Given the description of an element on the screen output the (x, y) to click on. 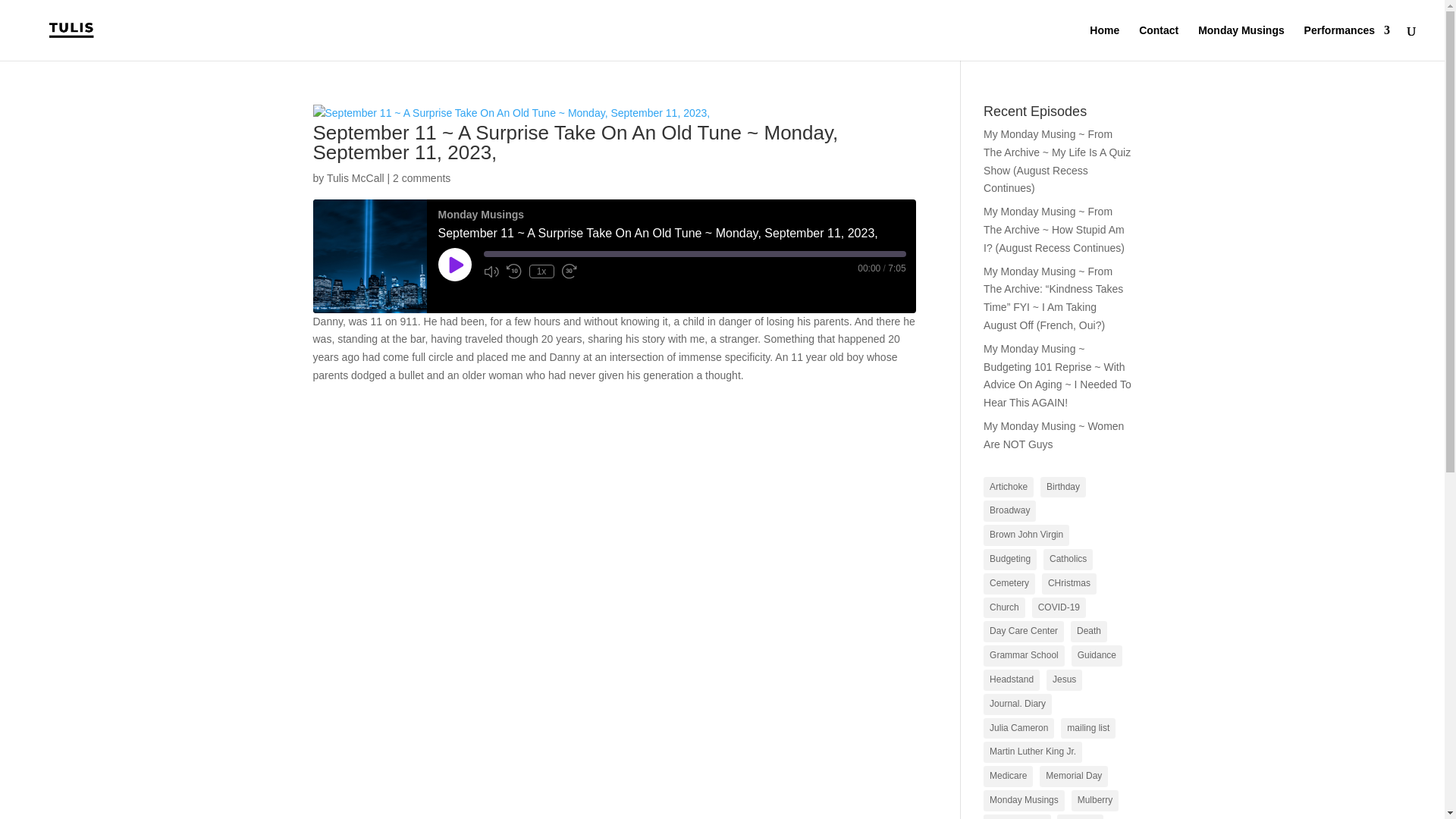
Fast Forward 30 seconds (568, 271)
Birthday (1063, 486)
Cemetery (1009, 583)
Contact (1157, 42)
Tulis McCall (355, 177)
Play Episode (454, 264)
1x (541, 271)
Jesus (1063, 680)
mailing list (1088, 728)
Broadway (1009, 510)
